Given the description of an element on the screen output the (x, y) to click on. 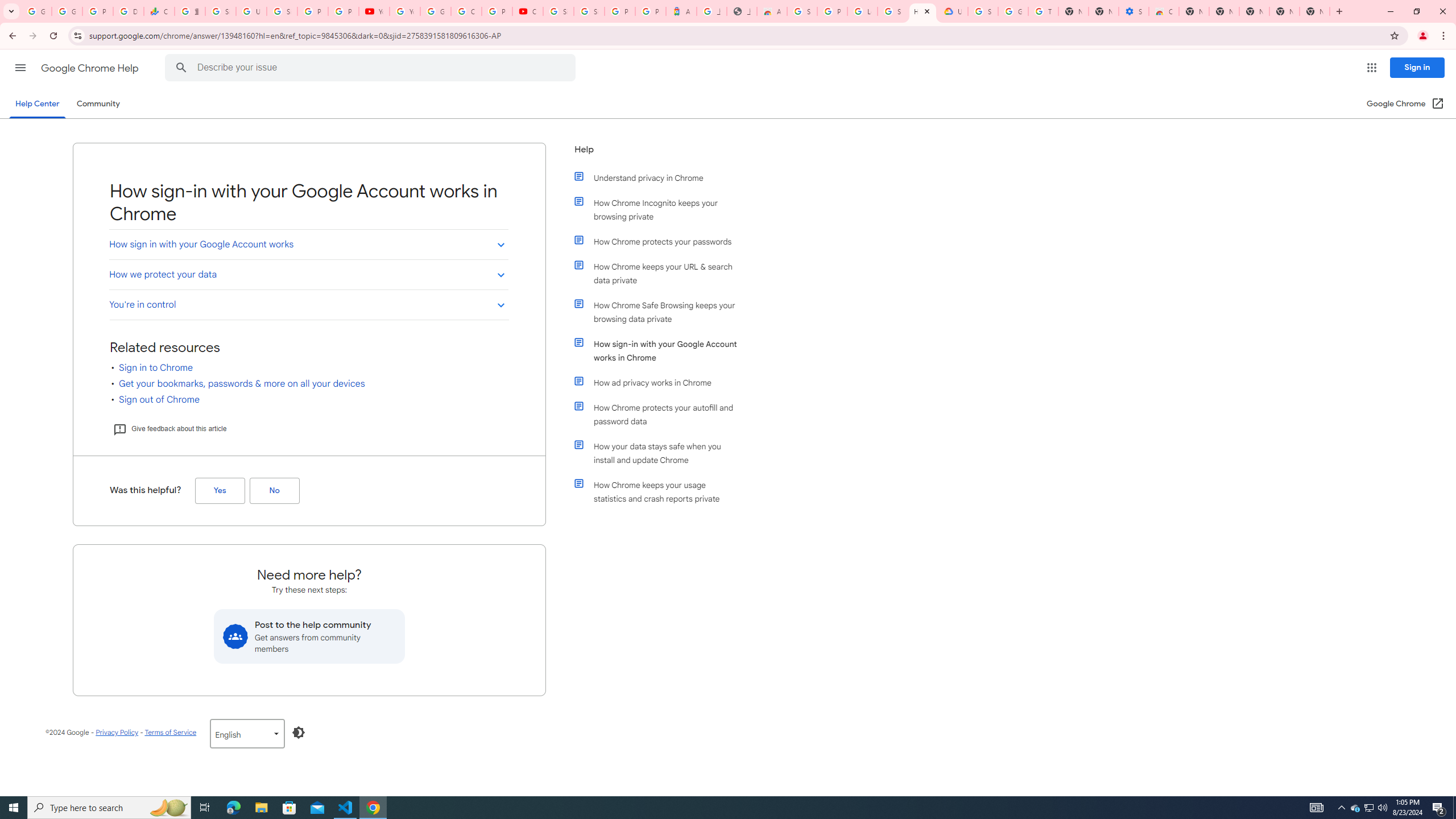
Google Account Help (1012, 11)
How sign-in with your Google Account works in Chrome (661, 350)
Give feedback about this article (169, 428)
You're in control (308, 304)
Google Account Help (434, 11)
How Chrome keeps your URL & search data private (661, 273)
Sign out of Chrome (159, 399)
How sign in with your Google Account works (308, 244)
